Given the description of an element on the screen output the (x, y) to click on. 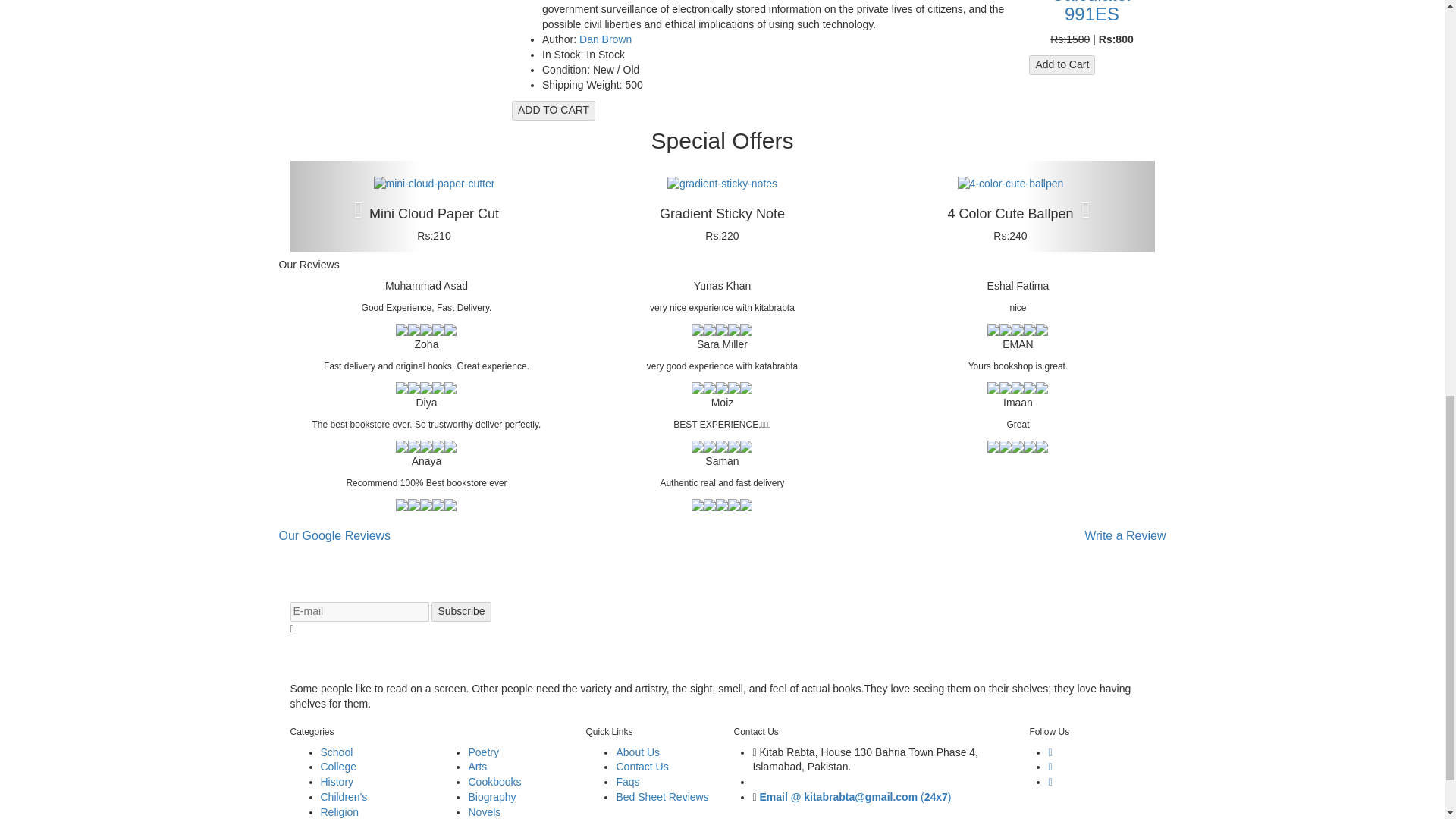
ADD TO CART (553, 110)
Subscribe (460, 611)
Add to Cart (1061, 65)
